Given the description of an element on the screen output the (x, y) to click on. 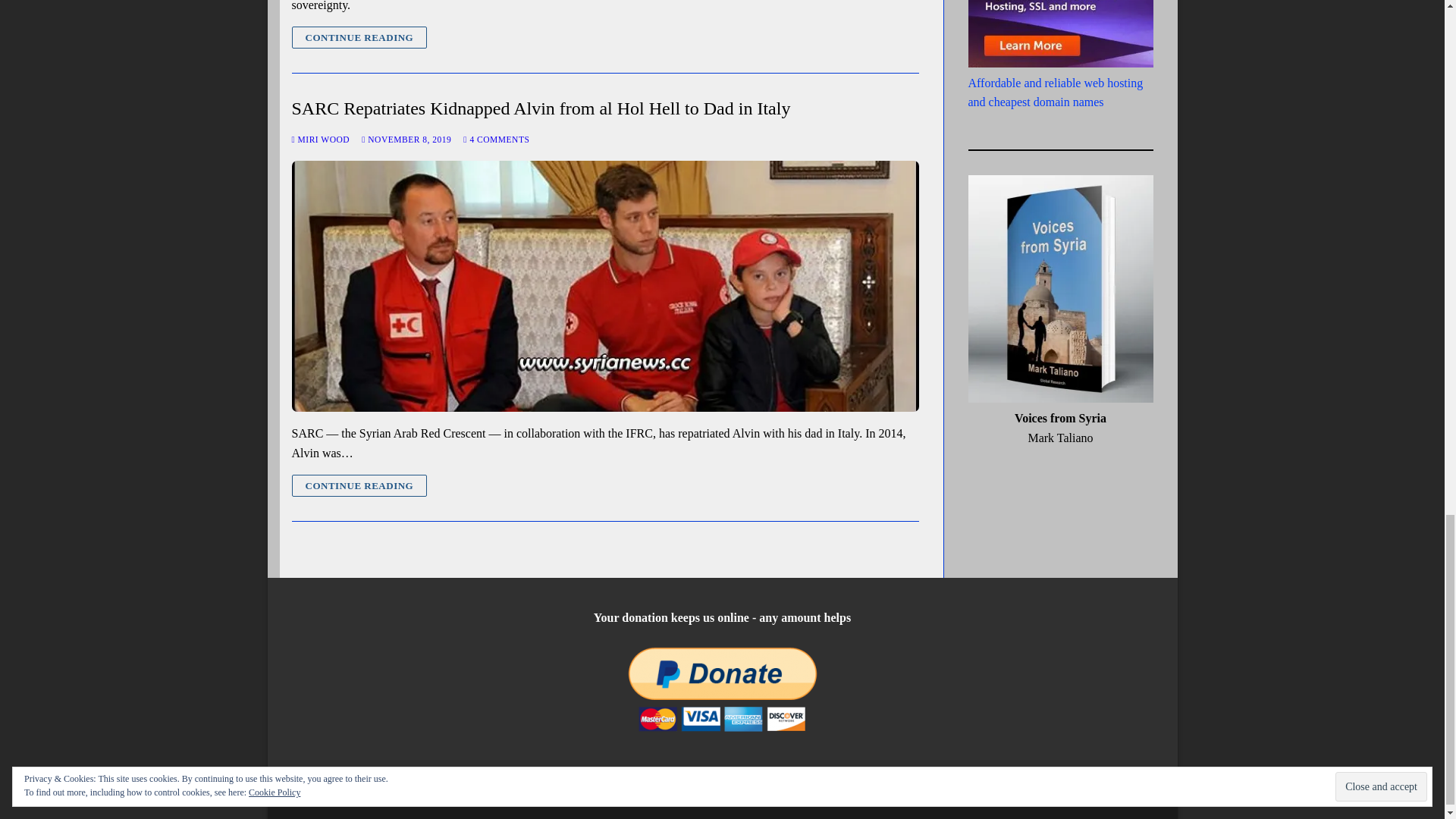
4 COMMENTS (496, 139)
CONTINUE READING (358, 485)
MIRI WOOD (320, 139)
NOVEMBER 8, 2019 (406, 139)
CONTINUE READING (358, 37)
